Given the description of an element on the screen output the (x, y) to click on. 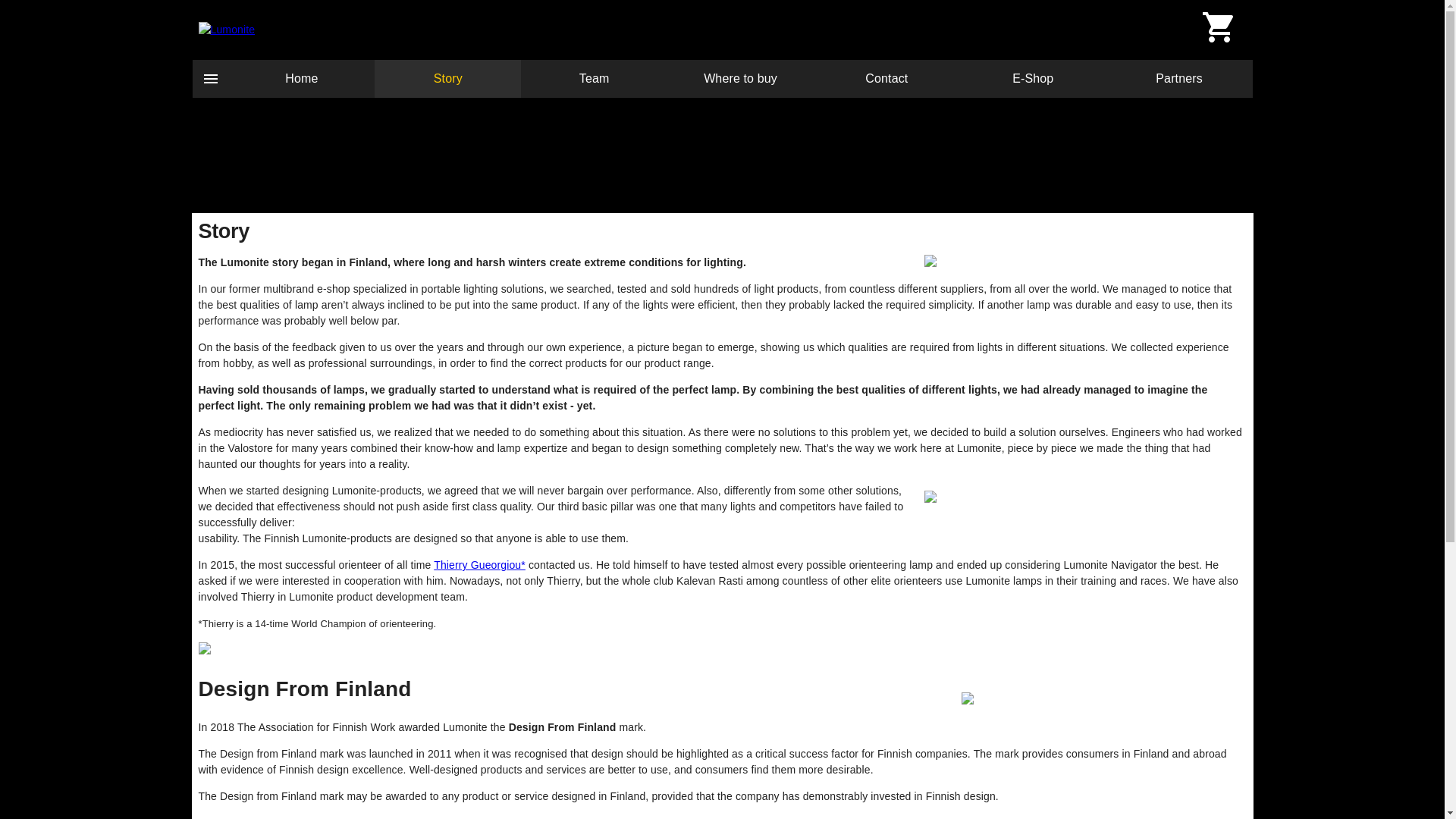
Team (593, 78)
Partners (1179, 78)
local (224, 29)
Home (301, 78)
Contact (886, 78)
Story (447, 78)
E-Shop (1032, 78)
Where to buy (739, 78)
